Given the description of an element on the screen output the (x, y) to click on. 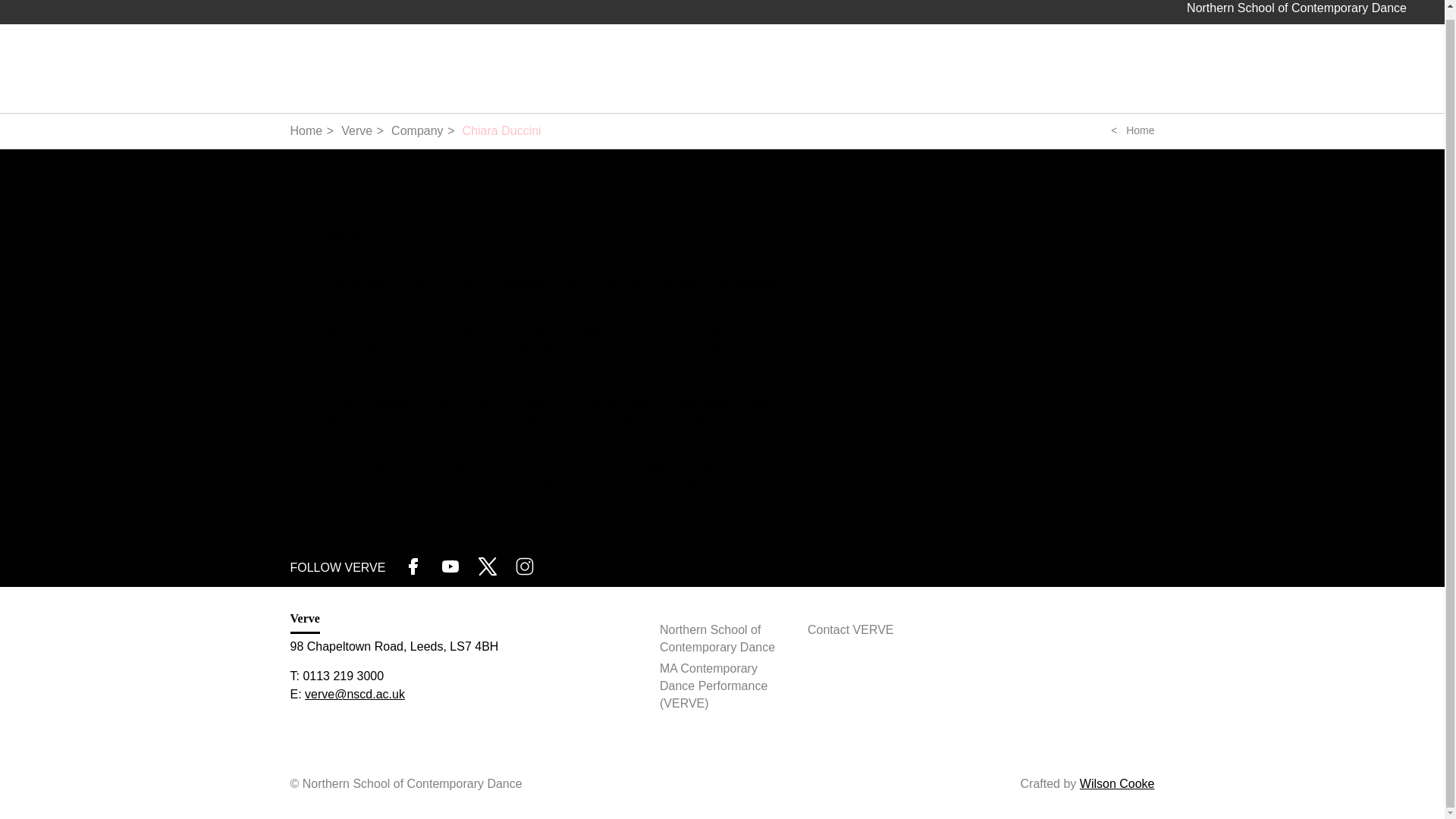
CONTACT (1285, 72)
Company (416, 130)
COMPANY (898, 74)
Chiara Duccini (502, 130)
WORKSHOPS (1182, 74)
Northern School of Contemporary Dance (721, 638)
ABOUT (809, 74)
Wilson Cooke (1117, 783)
Northern School of Contemporary Dance (1296, 7)
REPERTOIRE (1072, 74)
